Given the description of an element on the screen output the (x, y) to click on. 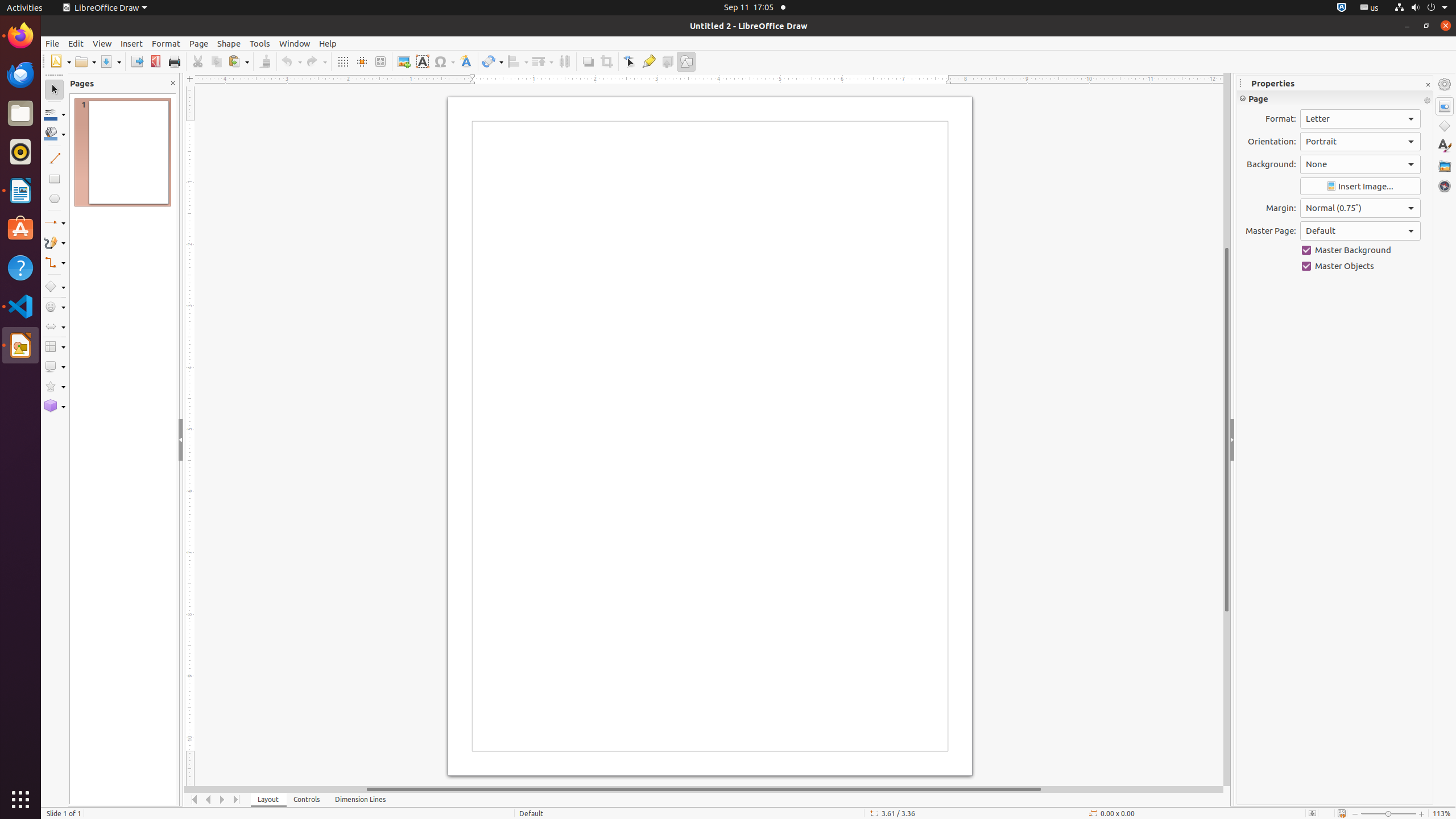
Horizontal Ruler Element type: ruler (703, 79)
Crop Element type: push-button (606, 61)
LibreOffice Draw Element type: menu (103, 7)
Styles Element type: radio-button (1444, 146)
Symbol Element type: push-button (443, 61)
